Given the description of an element on the screen output the (x, y) to click on. 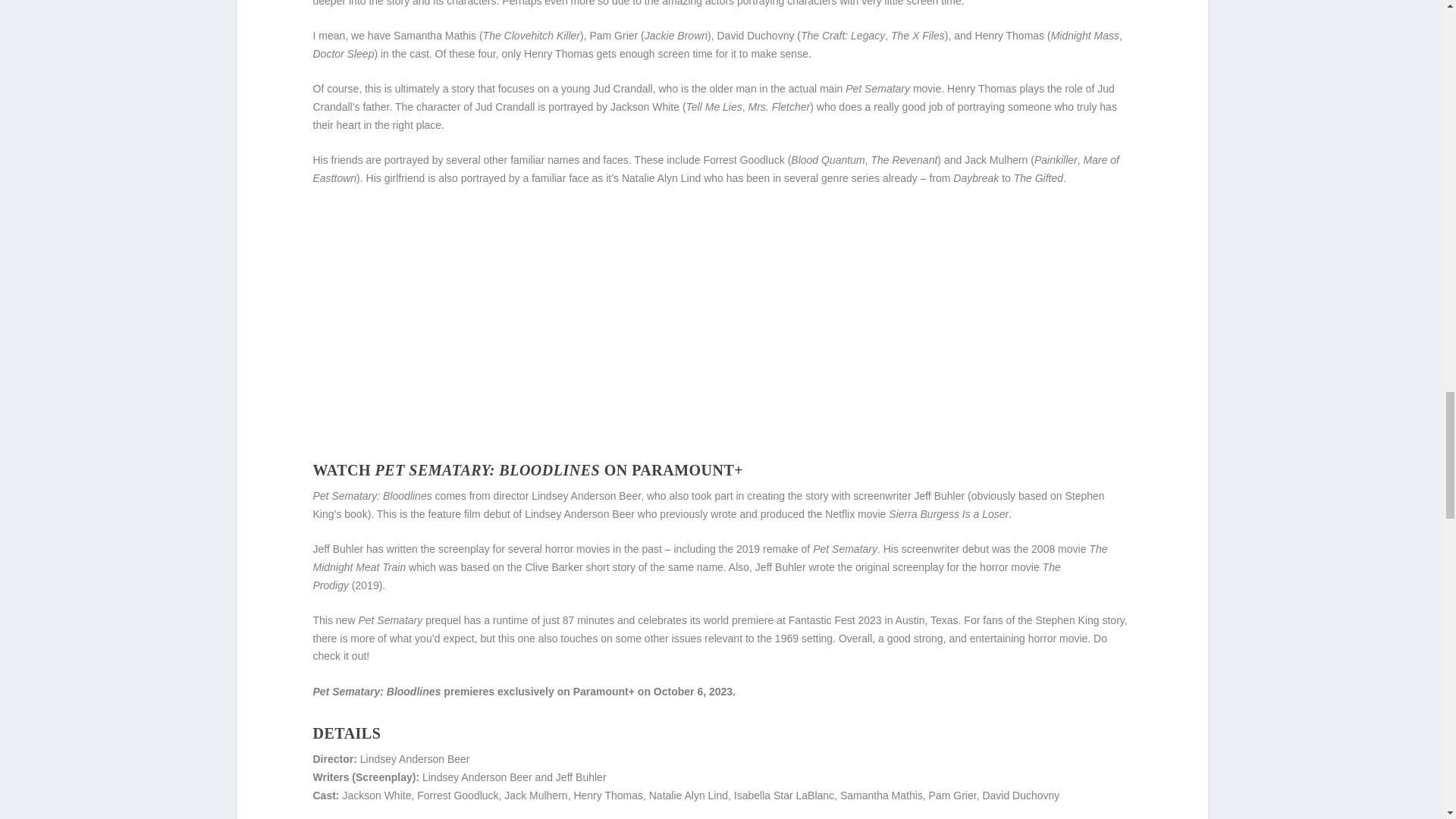
Clive Barker (553, 567)
Doctor Sleep (343, 53)
Jackie Brown (676, 35)
Henry Thomas (559, 53)
Daybreak (975, 177)
the Netflix movie Sierra Burgess Is a Loser (908, 513)
Blood Quantum (827, 159)
Fantastic Fest (822, 620)
Painkiller (1055, 159)
The Clovehitch Killer (531, 35)
